Given the description of an element on the screen output the (x, y) to click on. 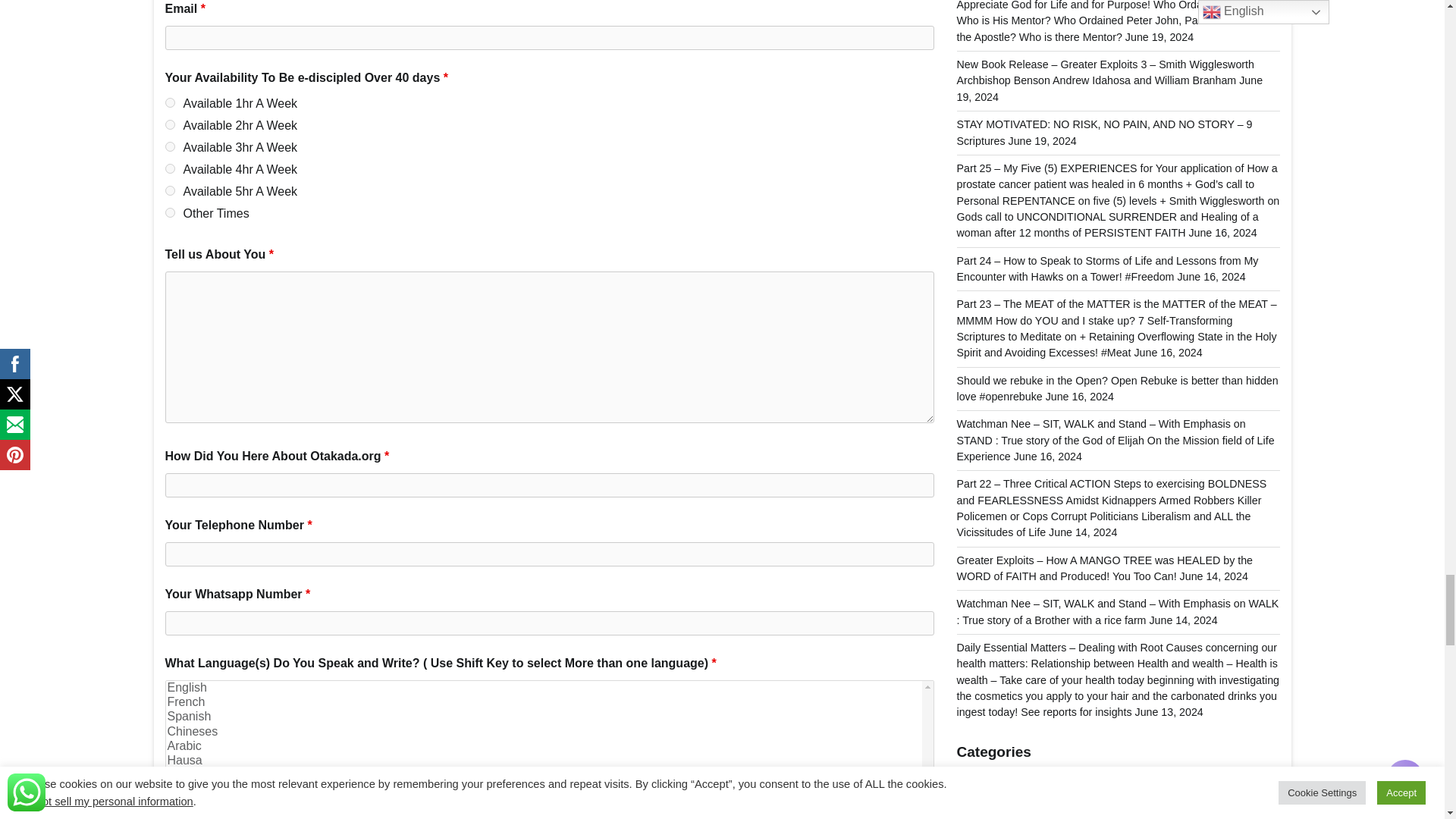
Five (169, 190)
available-3hr-a-week (169, 146)
Four (169, 168)
available-2hr-a-week (169, 124)
other-times (169, 212)
available-1hr-a-week (169, 102)
